Given the description of an element on the screen output the (x, y) to click on. 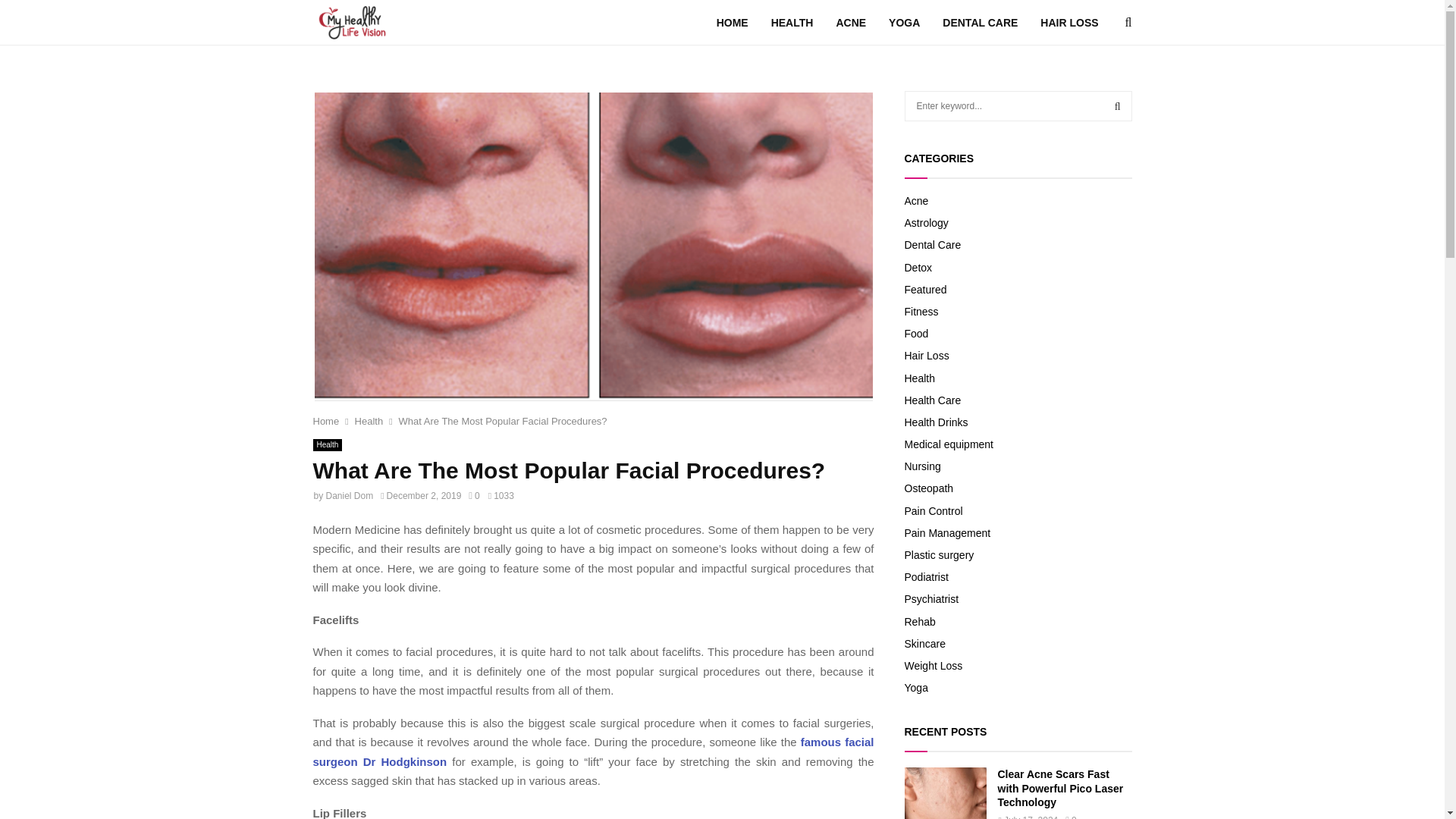
0 (473, 495)
Featured (925, 289)
What Are The Most Popular Facial Procedures? (502, 420)
Astrology (925, 223)
Acne (916, 200)
Dental Care (932, 244)
Home (326, 420)
Detox (917, 267)
SEARCH (1117, 105)
Fitness (920, 311)
Clear Acne Scars Fast with Powerful Pico Laser Technology (944, 793)
Health (327, 444)
Health (369, 420)
famous facial surgeon Dr Hodgkinson (593, 751)
Daniel Dom (350, 495)
